Given the description of an element on the screen output the (x, y) to click on. 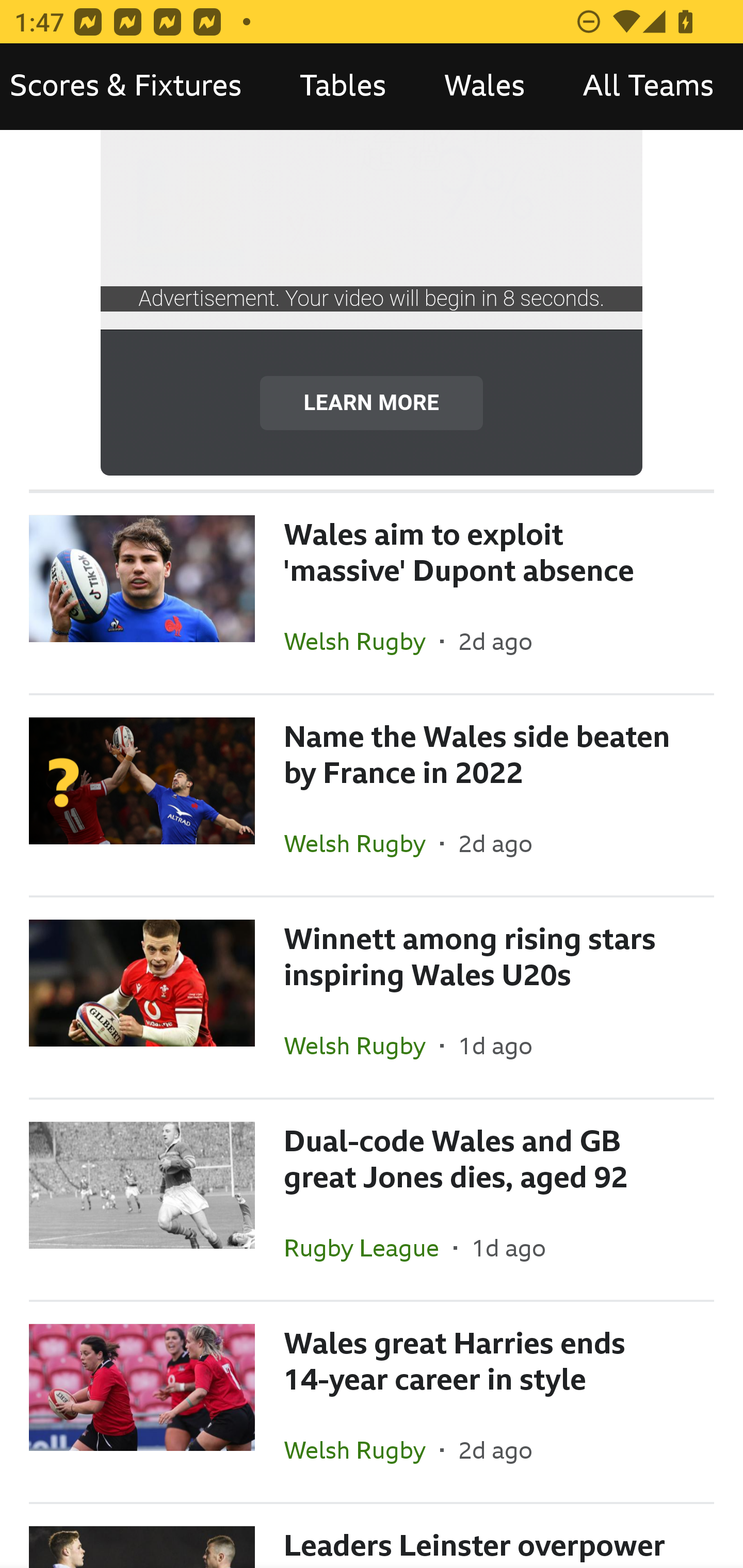
Scores & Fixtures (135, 86)
Tables (343, 86)
Wales (484, 86)
All Teams (648, 86)
Video Player get?name=admarker-full-tl LEARN MORE (371, 303)
LEARN MORE (371, 402)
Rugby League In the section Rugby League (368, 1246)
